Given the description of an element on the screen output the (x, y) to click on. 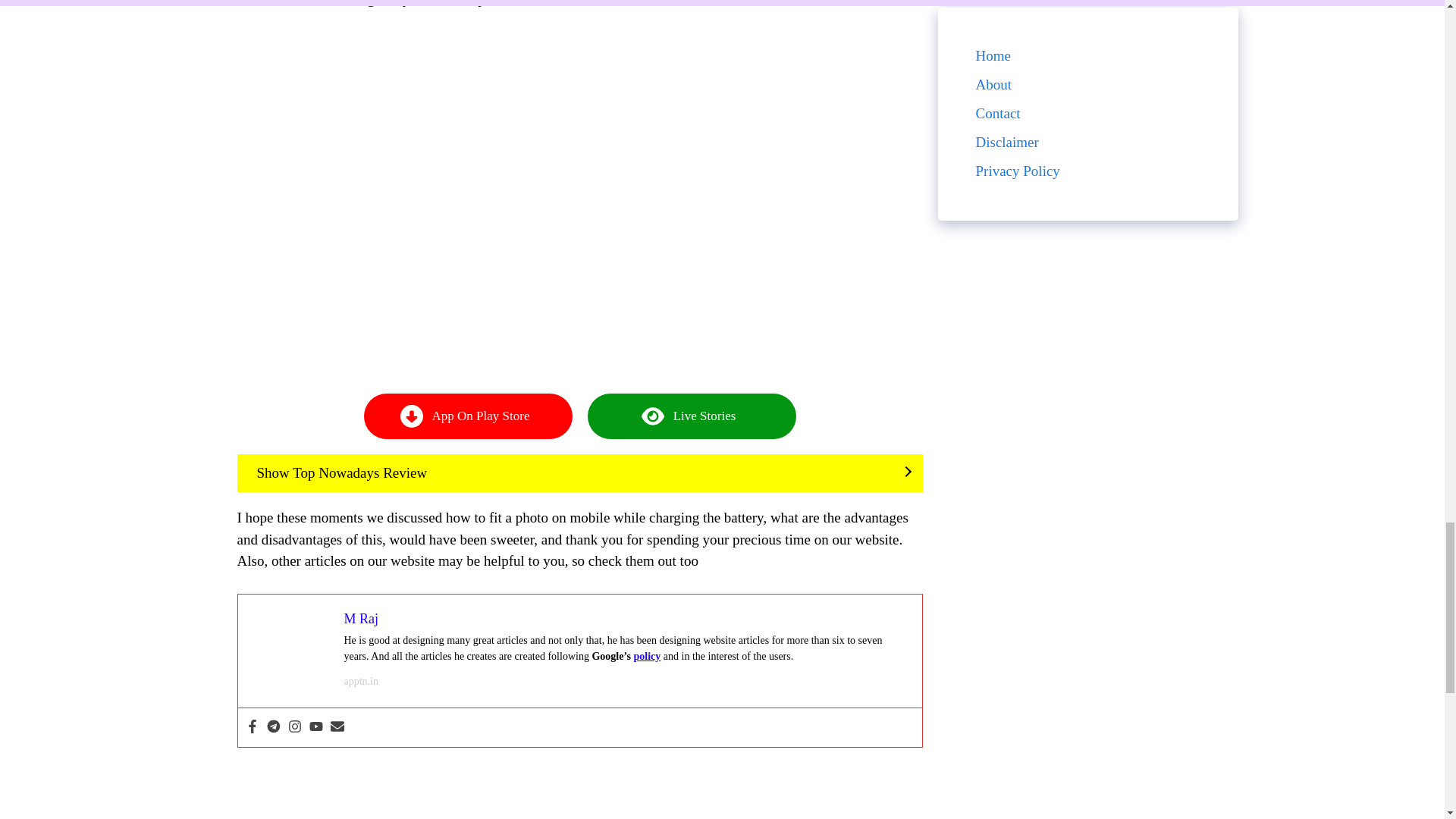
App On Play Store (468, 415)
apptn.in (360, 681)
policy (647, 655)
M Raj (360, 618)
Live Stories (690, 415)
What Is The Requirement of Battery Charging Photo App? 3 (291, 647)
